Given the description of an element on the screen output the (x, y) to click on. 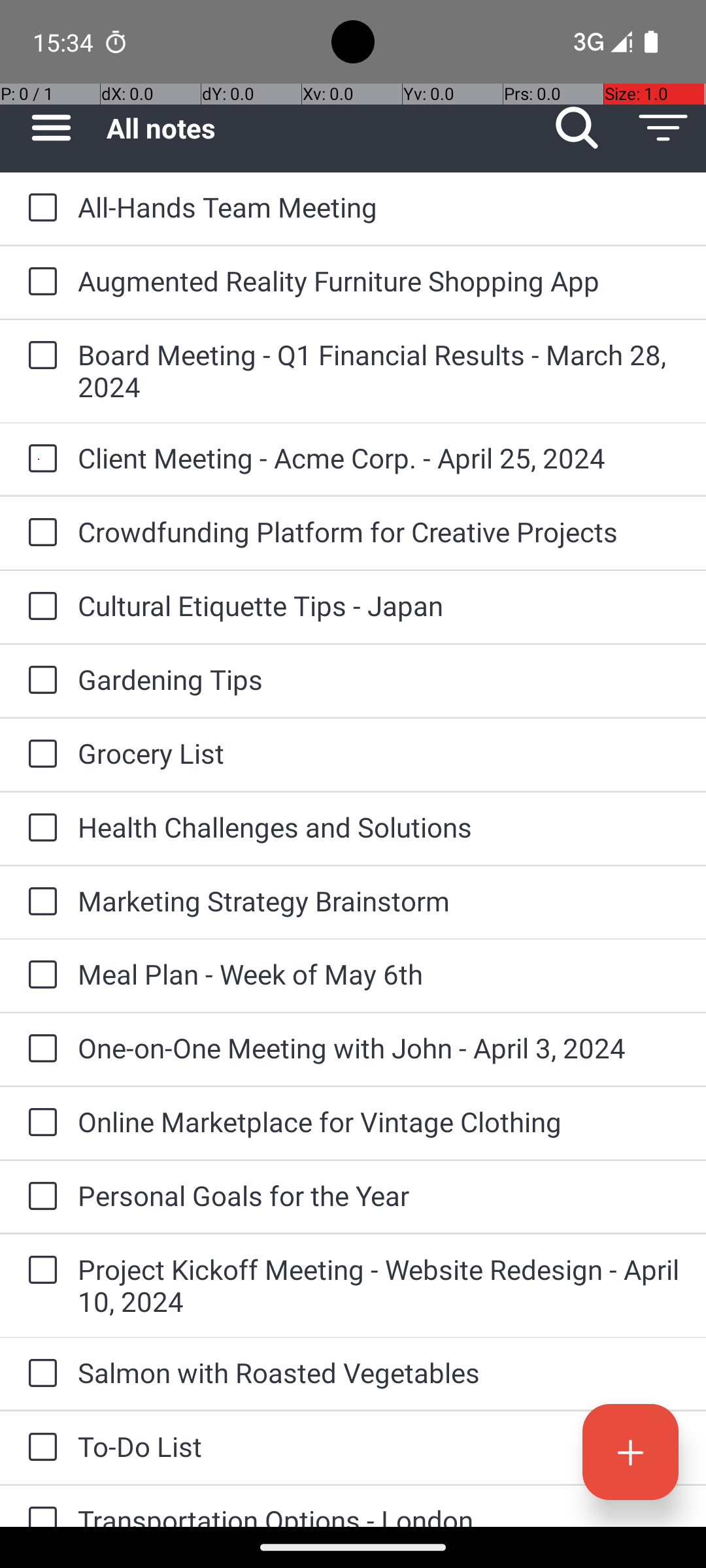
to-do: Augmented Reality Furniture Shopping App Element type: android.widget.CheckBox (38, 282)
to-do: Board Meeting - Q1 Financial Results - March 28, 2024 Element type: android.widget.CheckBox (38, 356)
to-do: Crowdfunding Platform for Creative Projects Element type: android.widget.CheckBox (38, 533)
Crowdfunding Platform for Creative Projects Element type: android.widget.TextView (378, 531)
to-do: Cultural Etiquette Tips - Japan Element type: android.widget.CheckBox (38, 606)
Cultural Etiquette Tips - Japan Element type: android.widget.TextView (378, 604)
to-do: Gardening Tips Element type: android.widget.CheckBox (38, 680)
Gardening Tips Element type: android.widget.TextView (378, 678)
to-do: Health Challenges and Solutions Element type: android.widget.CheckBox (38, 828)
to-do: Marketing Strategy Brainstorm Element type: android.widget.CheckBox (38, 902)
Marketing Strategy Brainstorm Element type: android.widget.TextView (378, 900)
to-do: Meal Plan - Week of May 6th Element type: android.widget.CheckBox (38, 975)
Meal Plan - Week of May 6th Element type: android.widget.TextView (378, 973)
to-do: One-on-One Meeting with John - April 3, 2024 Element type: android.widget.CheckBox (38, 1049)
One-on-One Meeting with John - April 3, 2024 Element type: android.widget.TextView (378, 1047)
to-do: Personal Goals for the Year Element type: android.widget.CheckBox (38, 1196)
Personal Goals for the Year Element type: android.widget.TextView (378, 1194)
to-do: Project Kickoff Meeting - Website Redesign - April 10, 2024 Element type: android.widget.CheckBox (38, 1270)
Project Kickoff Meeting - Website Redesign - April 10, 2024 Element type: android.widget.TextView (378, 1284)
to-do: Salmon with Roasted Vegetables Element type: android.widget.CheckBox (38, 1373)
Salmon with Roasted Vegetables Element type: android.widget.TextView (378, 1371)
to-do: To-Do List Element type: android.widget.CheckBox (38, 1447)
To-Do List Element type: android.widget.TextView (378, 1445)
to-do: Transportation Options - London Element type: android.widget.CheckBox (38, 1505)
